Given the description of an element on the screen output the (x, y) to click on. 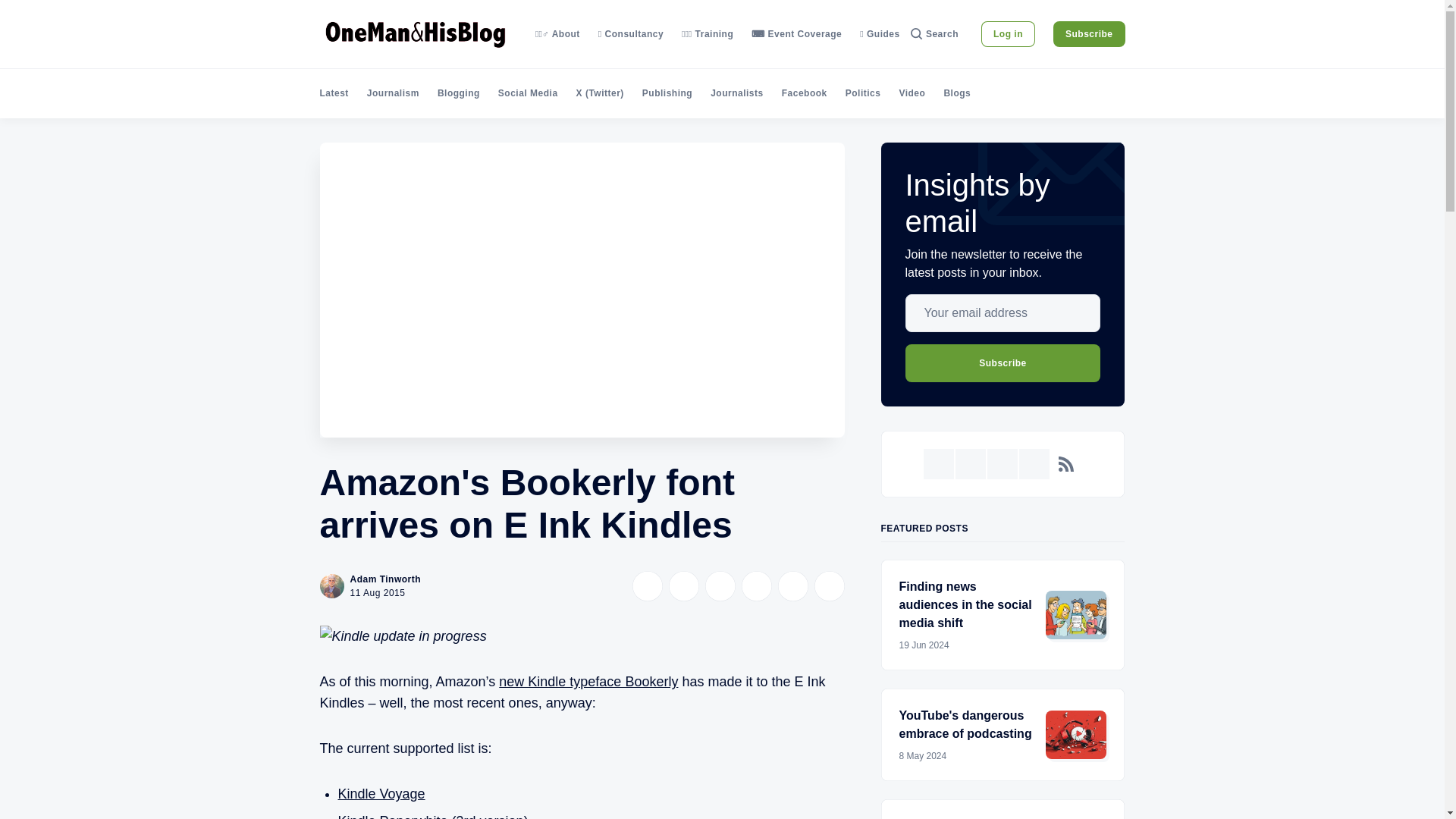
new Kindle typeface Bookerly (588, 681)
Share on LinkedIn (719, 585)
Share on Facebook (683, 585)
Adam Tinworth (386, 579)
Subscribe (1088, 33)
Share on Pinterest (756, 585)
Facebook (804, 92)
Kindle Voyage (381, 793)
Share via Email (792, 585)
Publishing (667, 92)
